Given the description of an element on the screen output the (x, y) to click on. 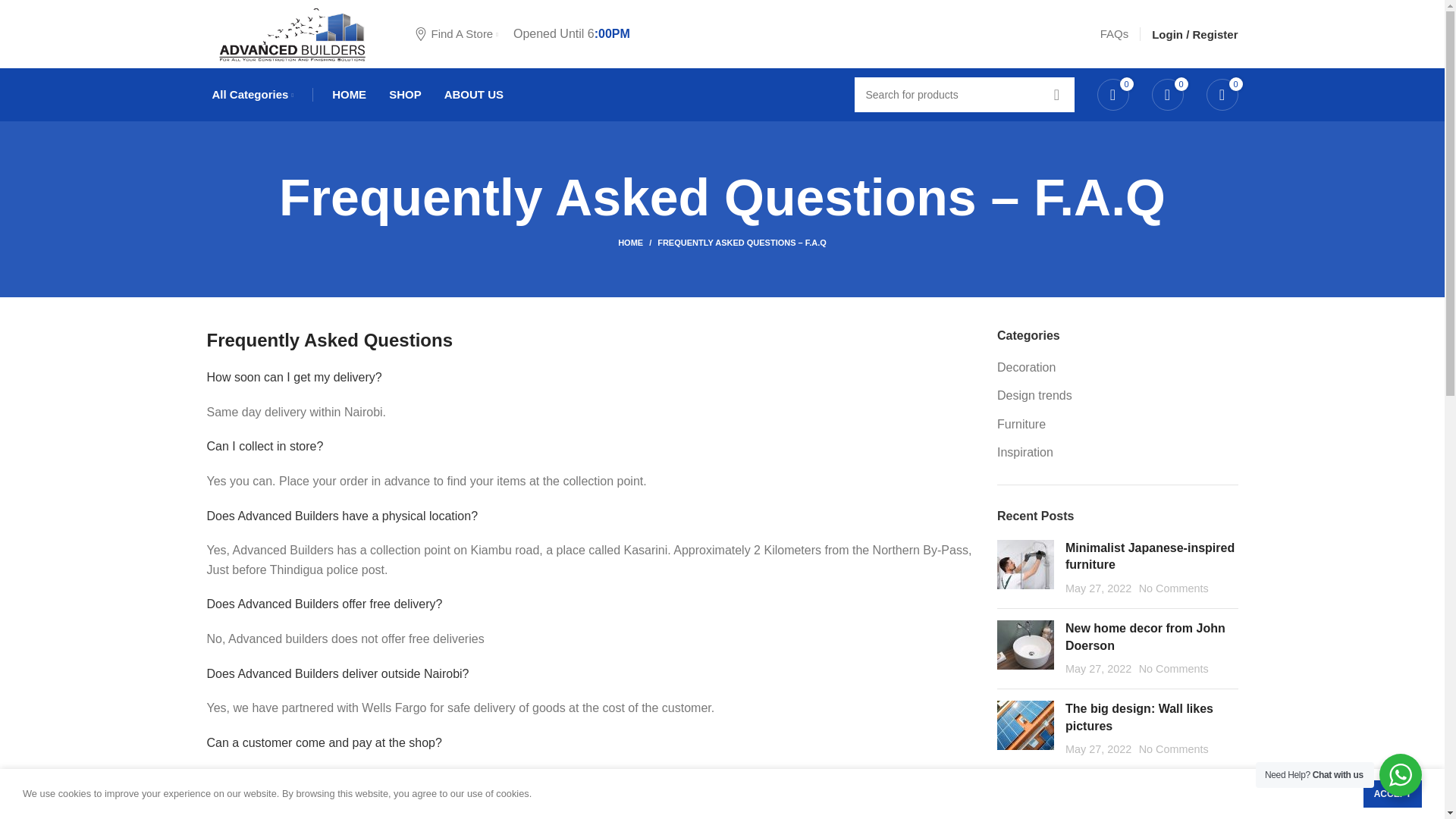
How soon can I get my delivery? (293, 377)
HOME (637, 242)
Find A Store (455, 33)
blog-bg-3 (1025, 725)
Shopping cart (1221, 94)
ABOUT US (473, 94)
My Wishlist (1112, 94)
Permalink to The big design: Wall likes pictures (1138, 716)
HOME (348, 94)
0 (1221, 94)
FAQs (1114, 33)
All Categories (250, 94)
0 (1166, 94)
Compare products (1166, 94)
SHOP (405, 94)
